Given the description of an element on the screen output the (x, y) to click on. 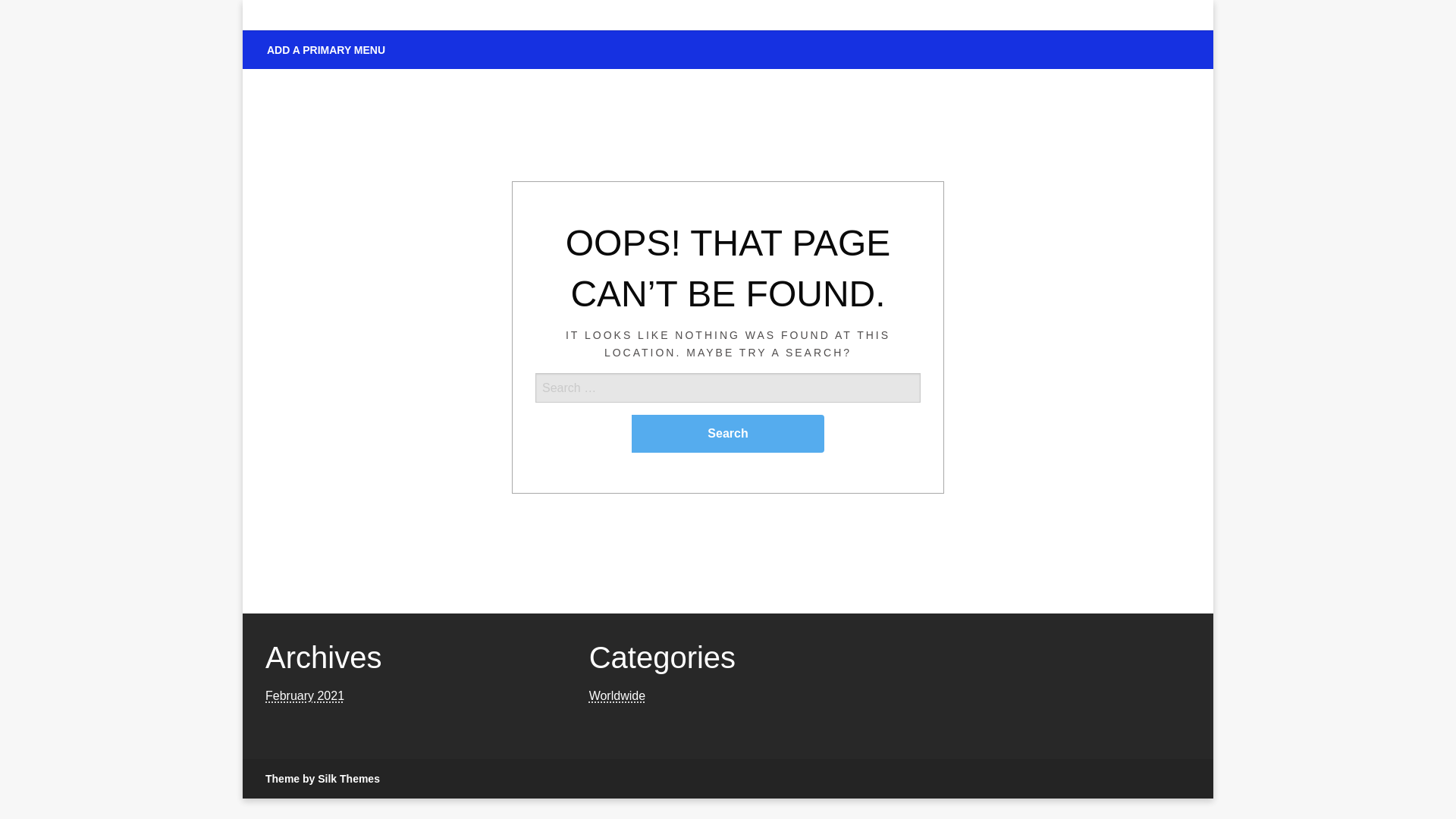
February 2021 (303, 695)
ADD A PRIMARY MENU (325, 49)
Search (727, 433)
Search (727, 433)
Theme by Silk Themes (322, 778)
Worldwide (617, 695)
Search (727, 433)
Search for: (727, 412)
